Given the description of an element on the screen output the (x, y) to click on. 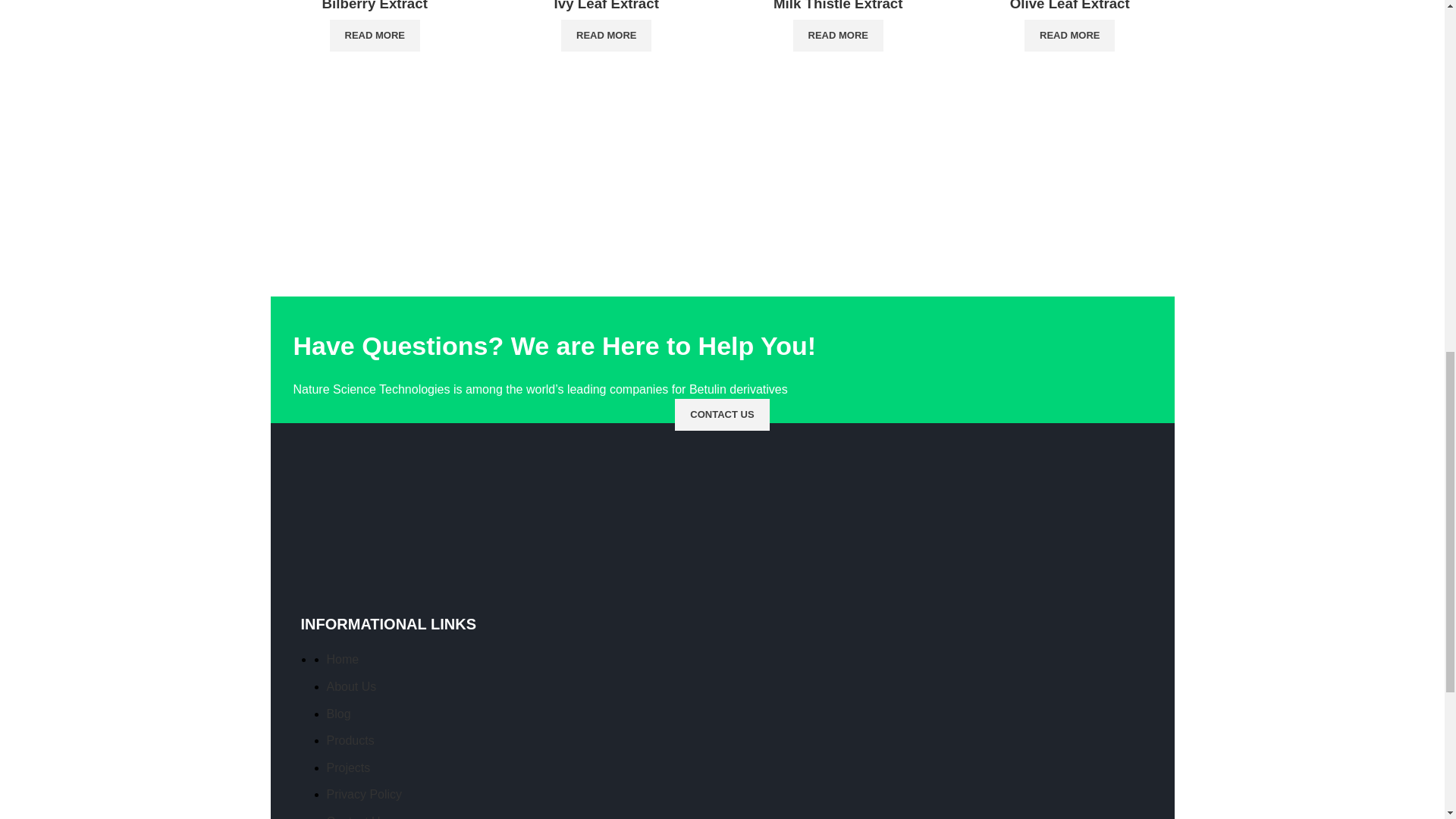
READ MORE (838, 35)
Bilberry Extract (374, 5)
READ MORE (375, 35)
READ MORE (605, 35)
Ivy Leaf Extract (606, 5)
Milk Thistle Extract (837, 5)
